Given the description of an element on the screen output the (x, y) to click on. 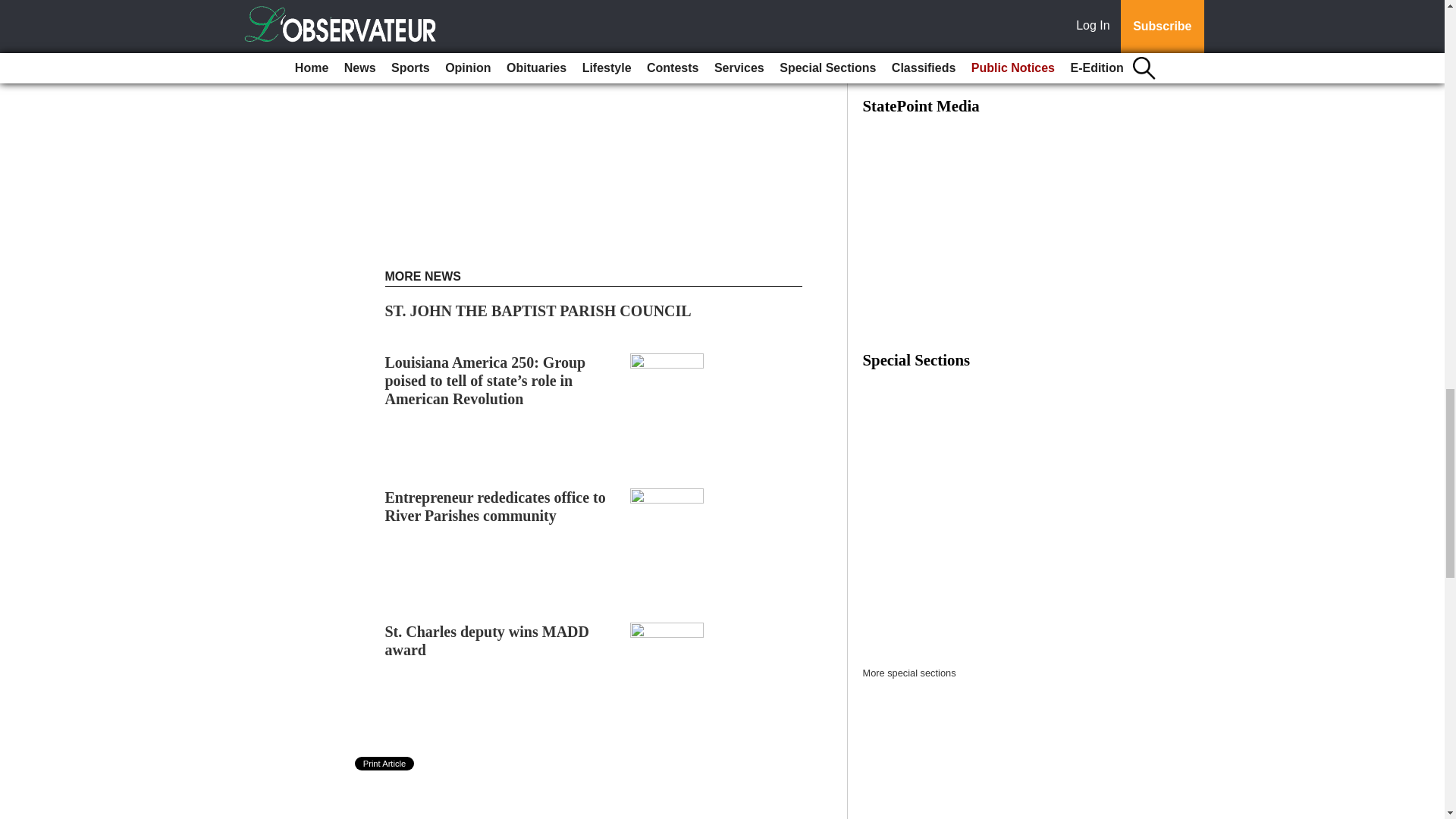
St. Charles deputy wins MADD award (487, 640)
Entrepreneur rededicates office to River Parishes community (495, 506)
St. Charles deputy wins MADD award (487, 640)
ST. JOHN THE BAPTIST PARISH COUNCIL (538, 310)
Entrepreneur rededicates office to River Parishes community (495, 506)
Print Article (384, 763)
ST. JOHN THE BAPTIST PARISH COUNCIL (538, 310)
